Given the description of an element on the screen output the (x, y) to click on. 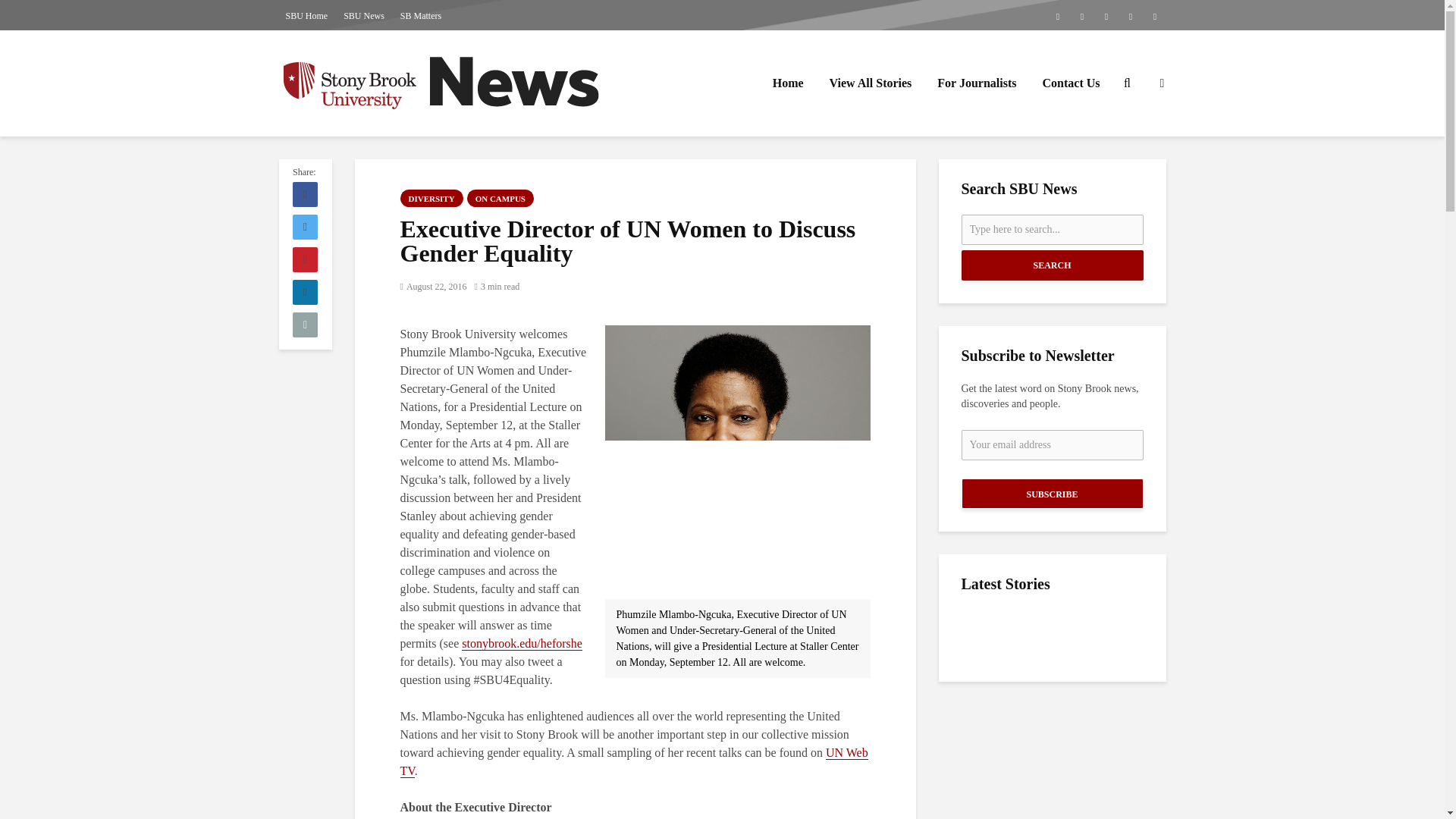
SBU News (363, 15)
View All Stories (870, 82)
SBU Home (306, 15)
Subscribe (1051, 493)
For Journalists (976, 82)
Home (788, 82)
Contact Us (1071, 82)
SB Matters (420, 15)
